Given the description of an element on the screen output the (x, y) to click on. 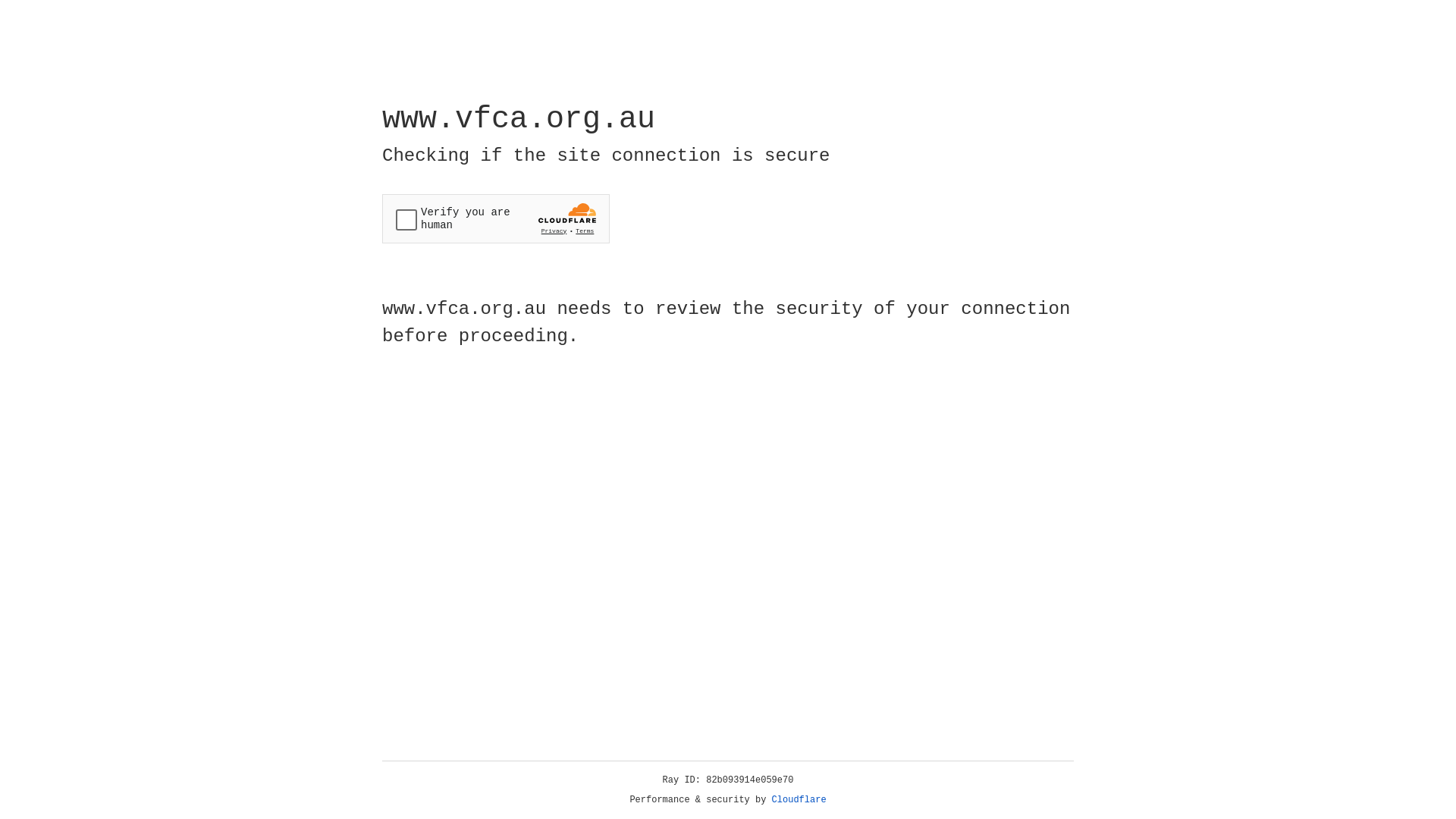
Cloudflare Element type: text (798, 799)
Widget containing a Cloudflare security challenge Element type: hover (495, 218)
